Given the description of an element on the screen output the (x, y) to click on. 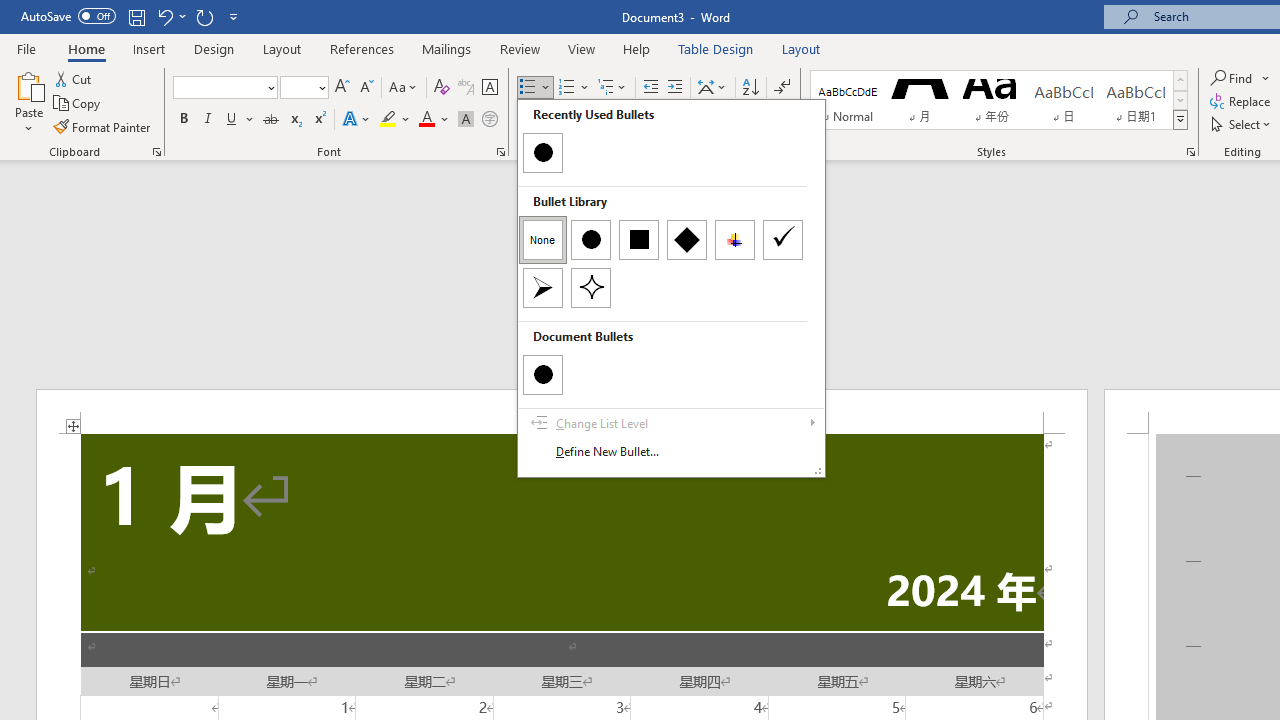
Layout (801, 48)
Review (520, 48)
Undo Apply Quick Style (164, 15)
Row up (1179, 79)
Mailings (447, 48)
Open (320, 87)
Select (1242, 124)
Home (86, 48)
Class: NetUIImage (1181, 119)
Format Painter (103, 126)
Customize Quick Access Toolbar (234, 15)
Text Effects and Typography (357, 119)
Find (1240, 78)
View (582, 48)
